Given the description of an element on the screen output the (x, y) to click on. 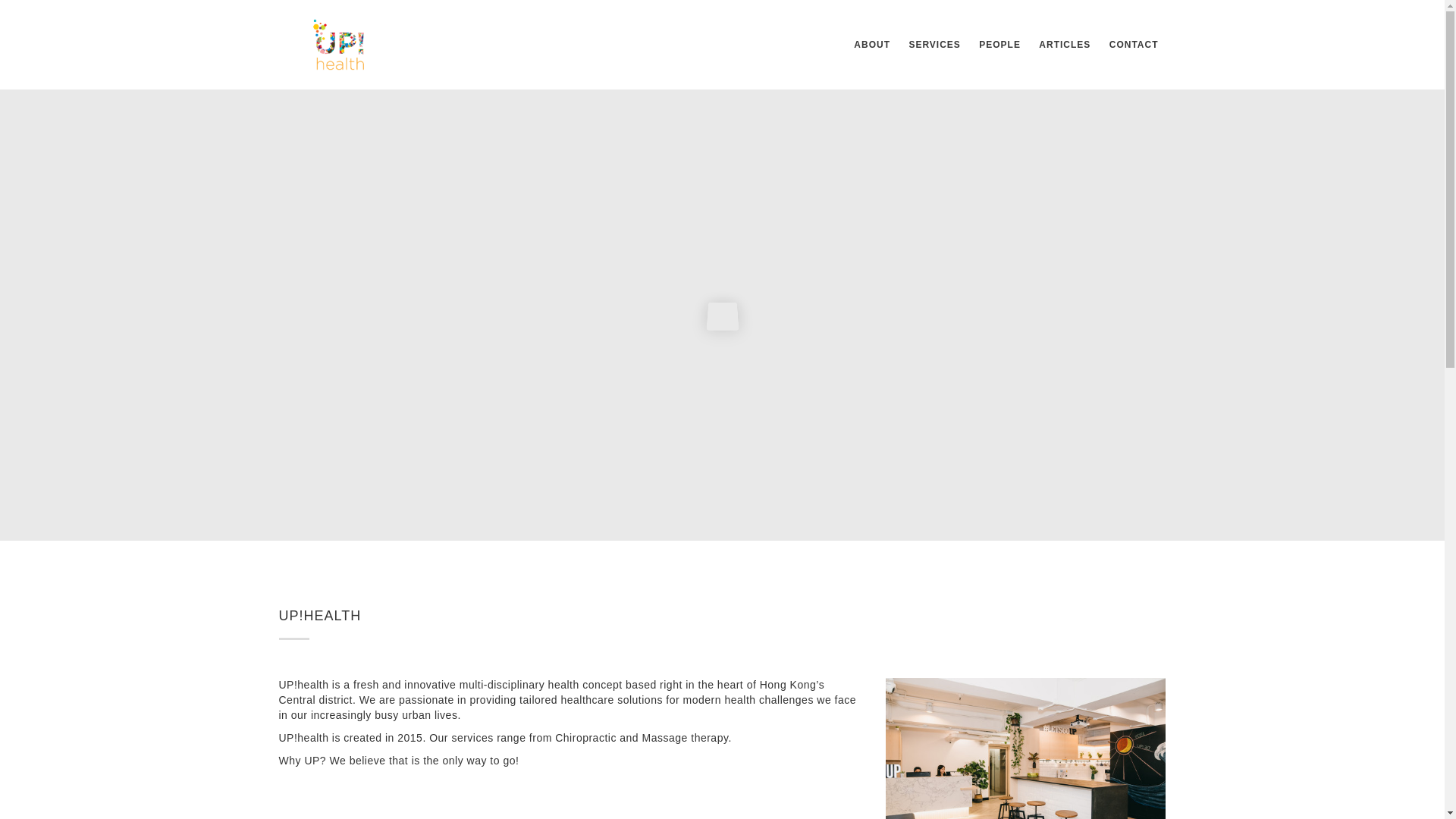
PEOPLE (999, 44)
SERVICES (934, 44)
CONTACT (1134, 44)
ARTICLES (1063, 44)
ABOUT (871, 44)
UP!health (1025, 748)
